Given the description of an element on the screen output the (x, y) to click on. 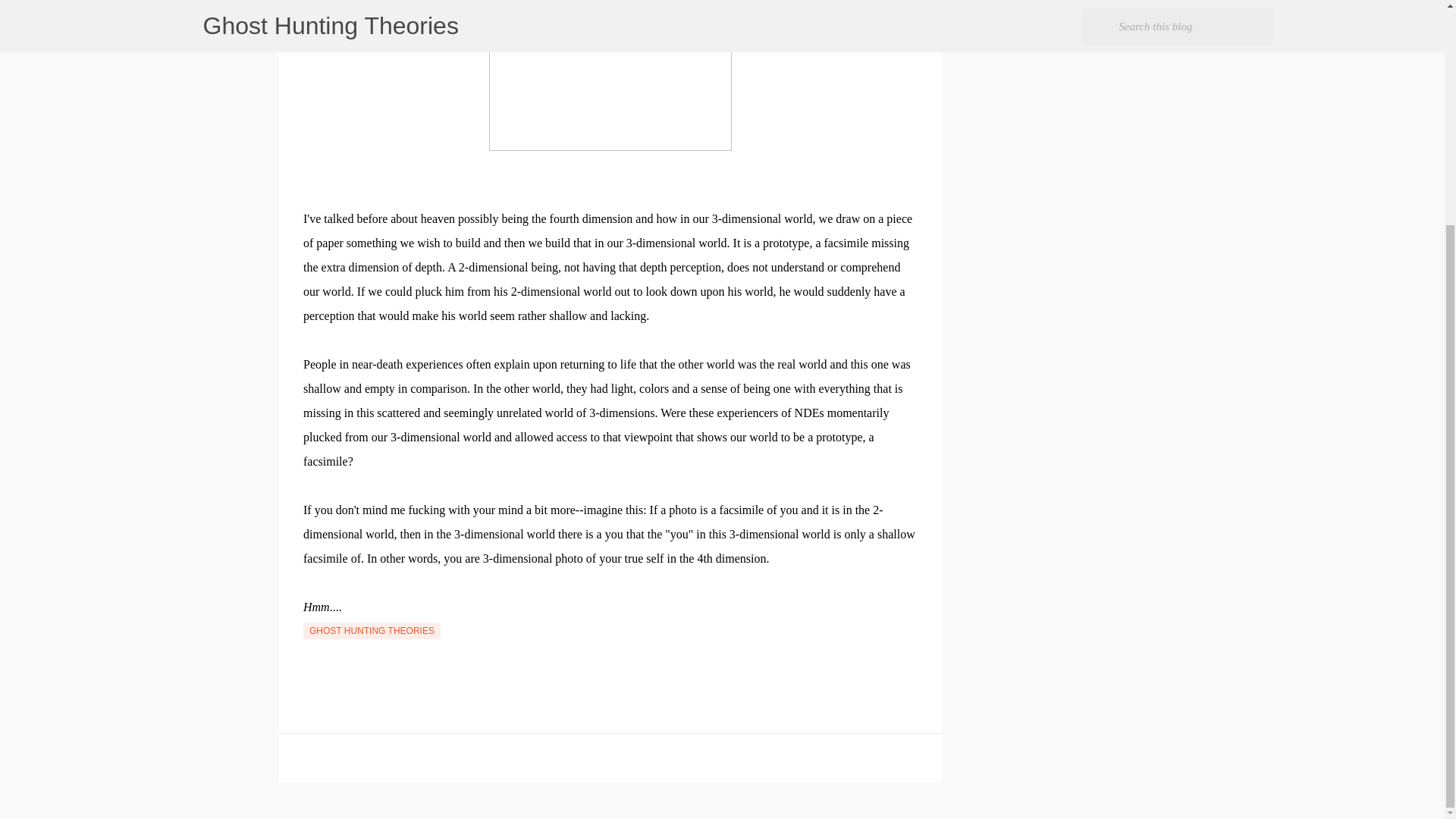
GHOST HUNTING THEORIES (371, 630)
